Given the description of an element on the screen output the (x, y) to click on. 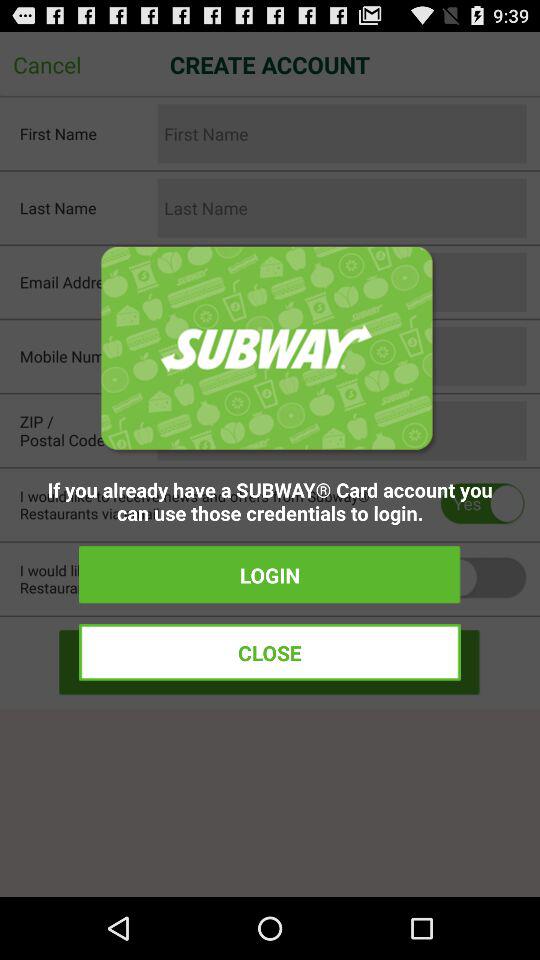
scroll until the close icon (269, 652)
